Given the description of an element on the screen output the (x, y) to click on. 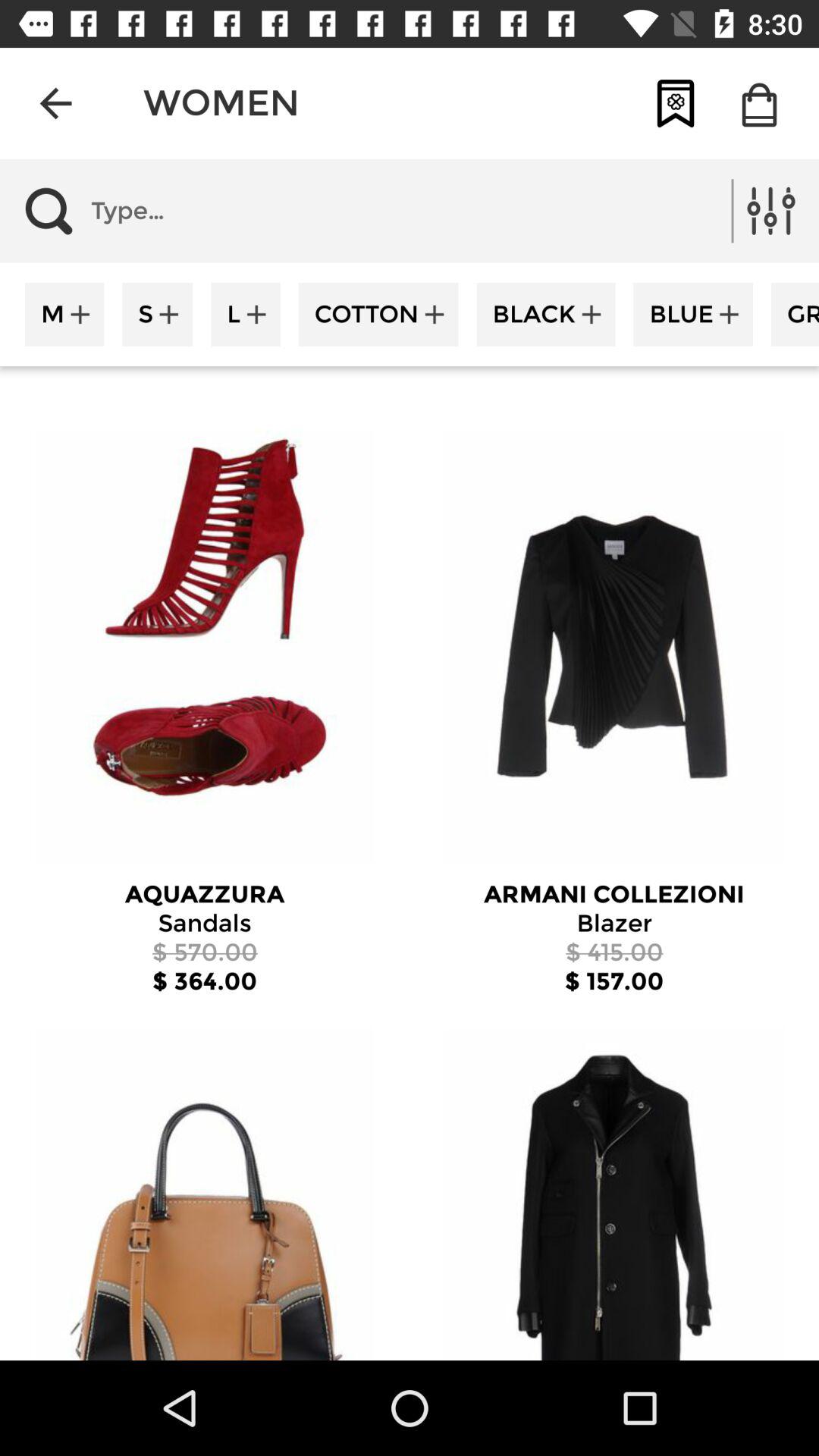
click item next to women (675, 103)
